Given the description of an element on the screen output the (x, y) to click on. 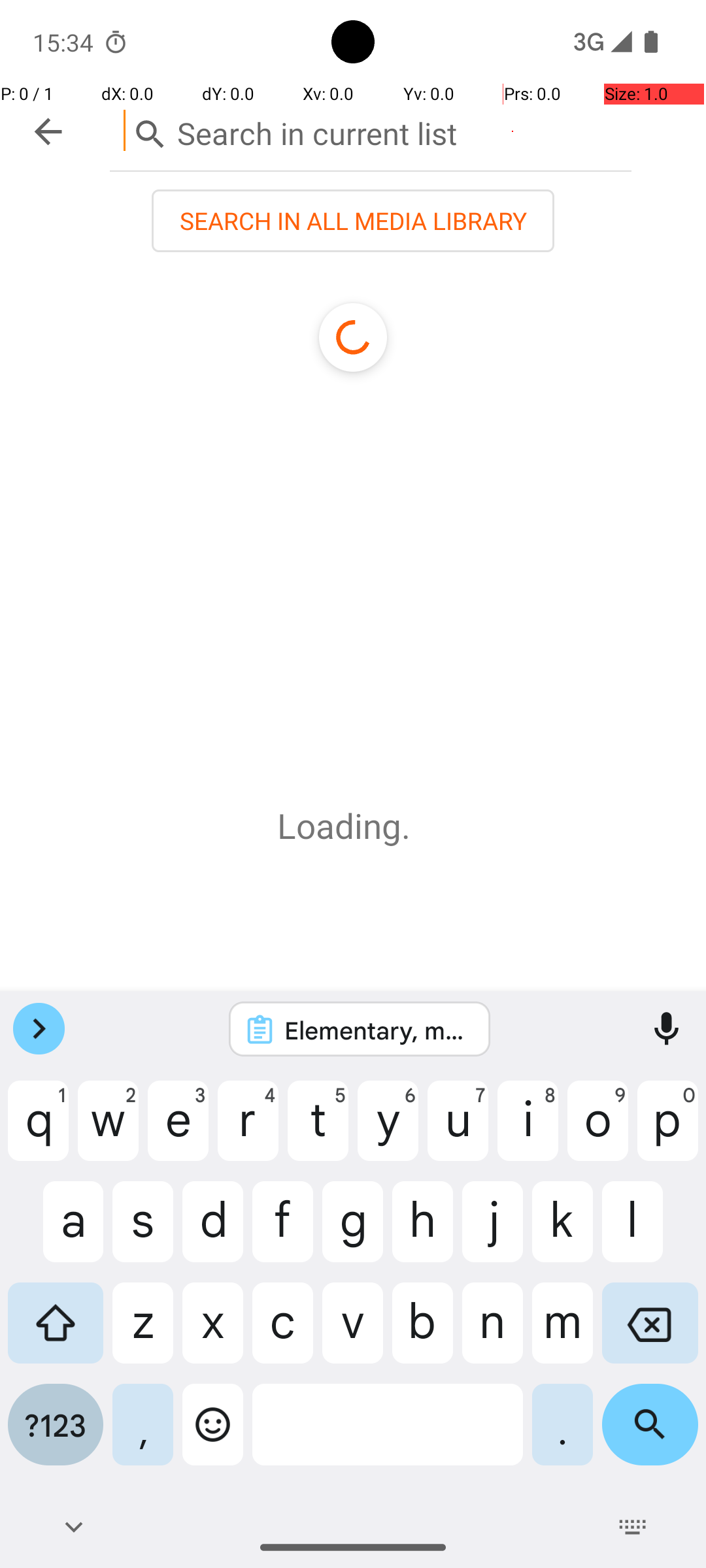
SEARCH IN ALL MEDIA LIBRARY Element type: android.widget.Button (352, 220)
   Search in current list Element type: android.widget.AutoCompleteTextView (370, 130)
